Given the description of an element on the screen output the (x, y) to click on. 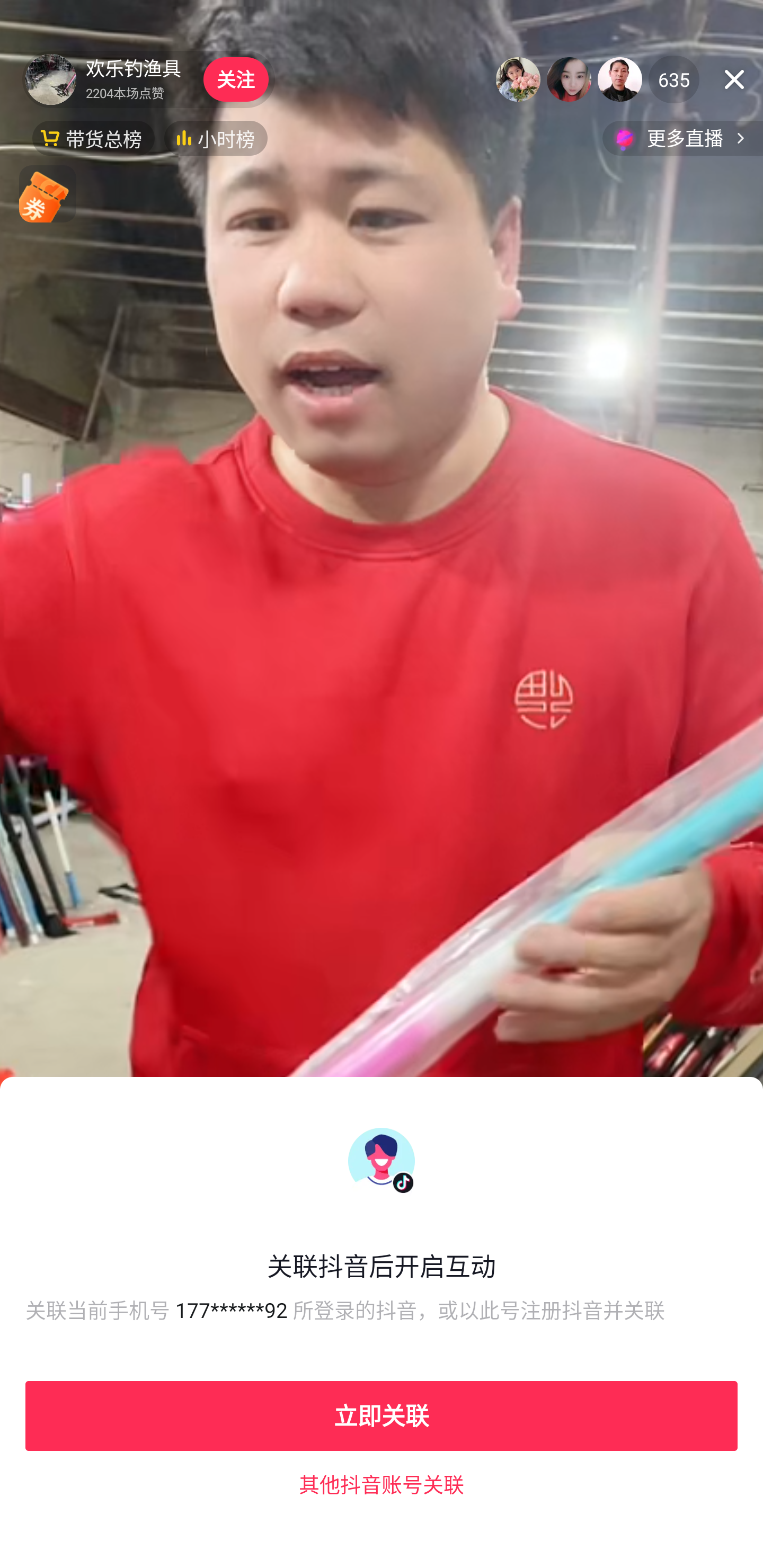
立即关联 (381, 1415)
其他抖音账号关联 (381, 1483)
